Given the description of an element on the screen output the (x, y) to click on. 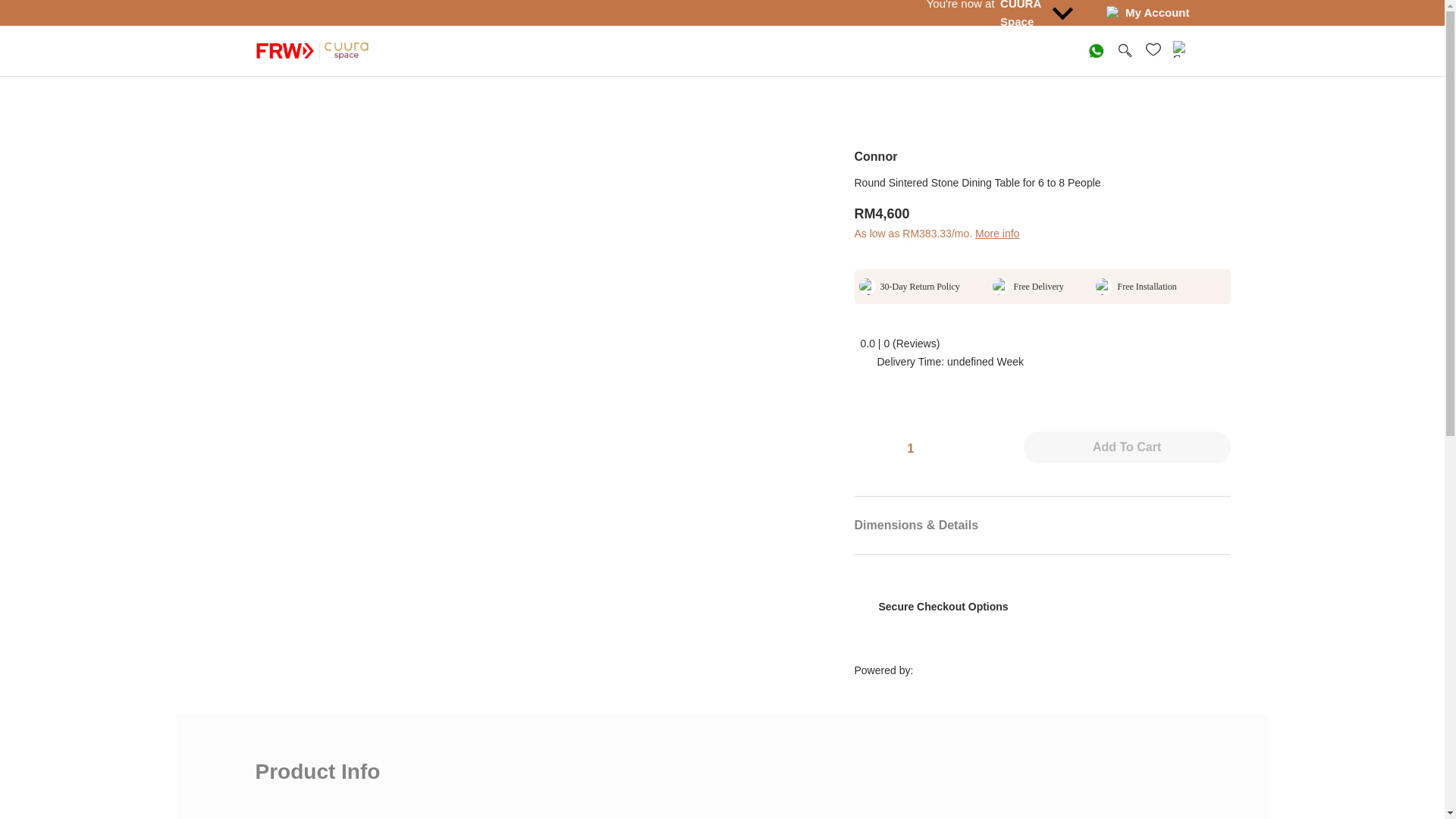
Add To Cart (1126, 447)
